Given the description of an element on the screen output the (x, y) to click on. 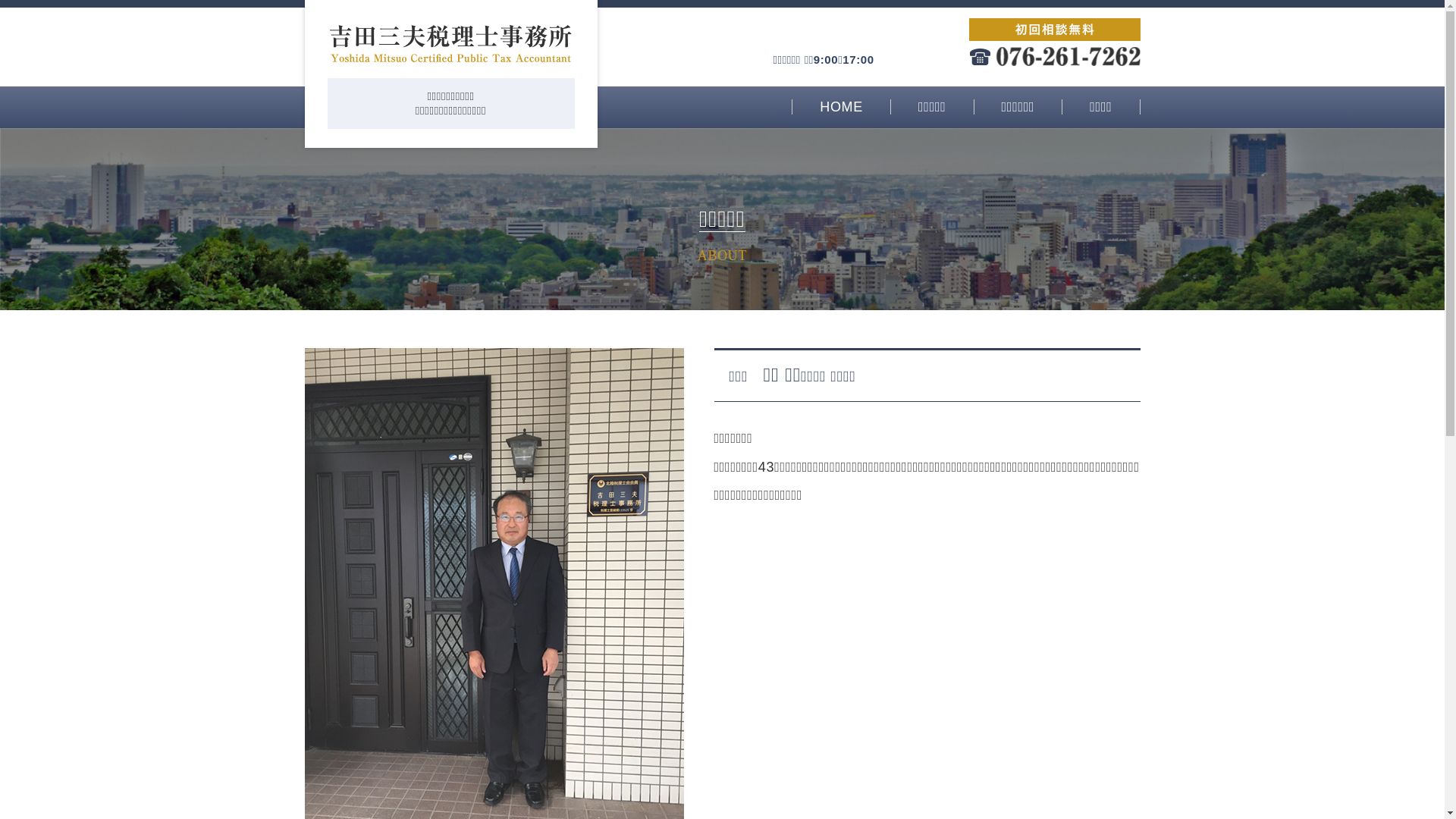
HOME Element type: text (840, 106)
